Given the description of an element on the screen output the (x, y) to click on. 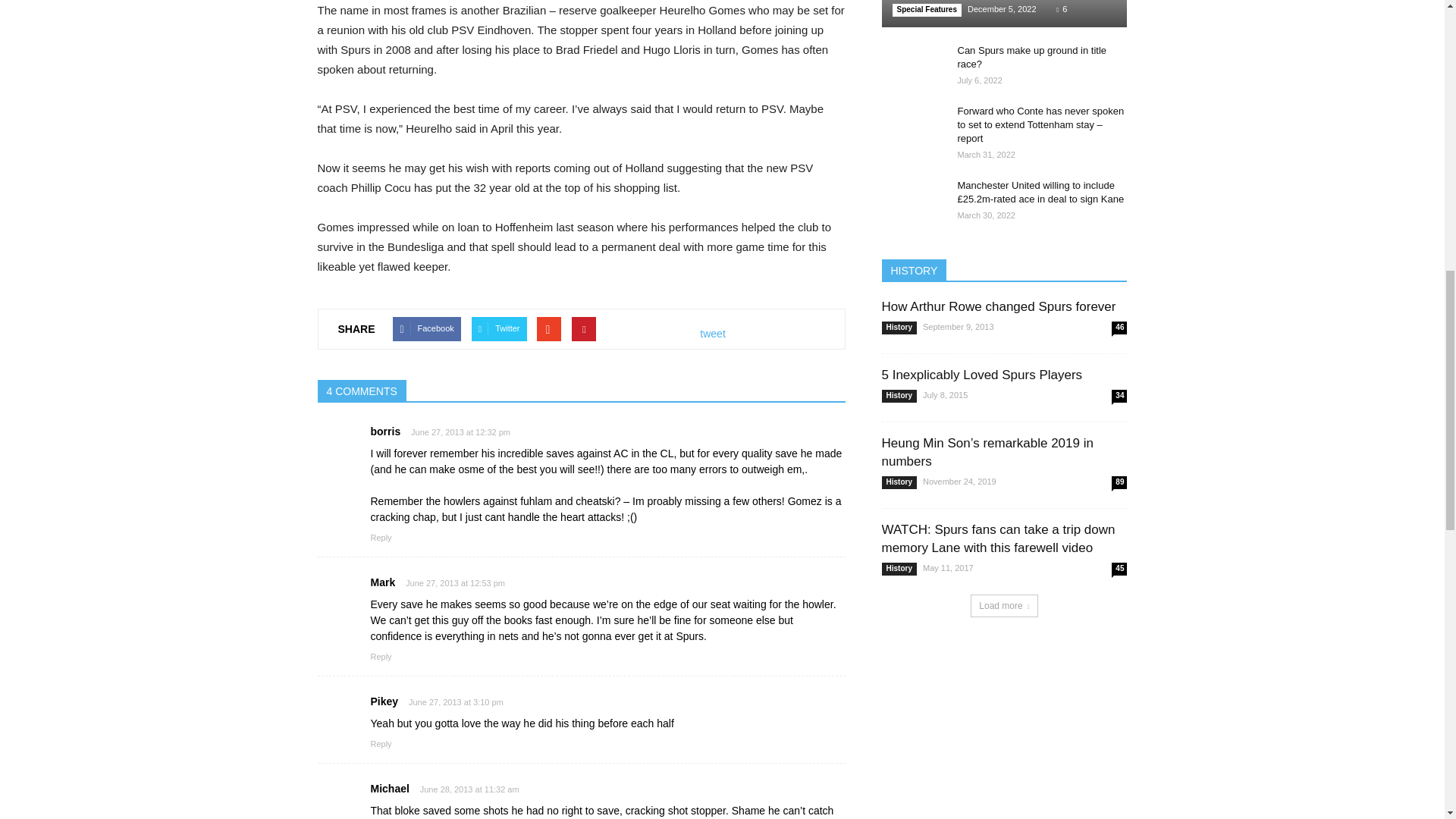
How Arthur Rowe changed Spurs forever (997, 306)
Will Son shine at the 2022 World Cup? (1003, 13)
Can Spurs make up ground in title race? (1031, 57)
Can Spurs make up ground in title race? (911, 64)
5 Inexplicably Loved Spurs Players (980, 374)
